Given the description of an element on the screen output the (x, y) to click on. 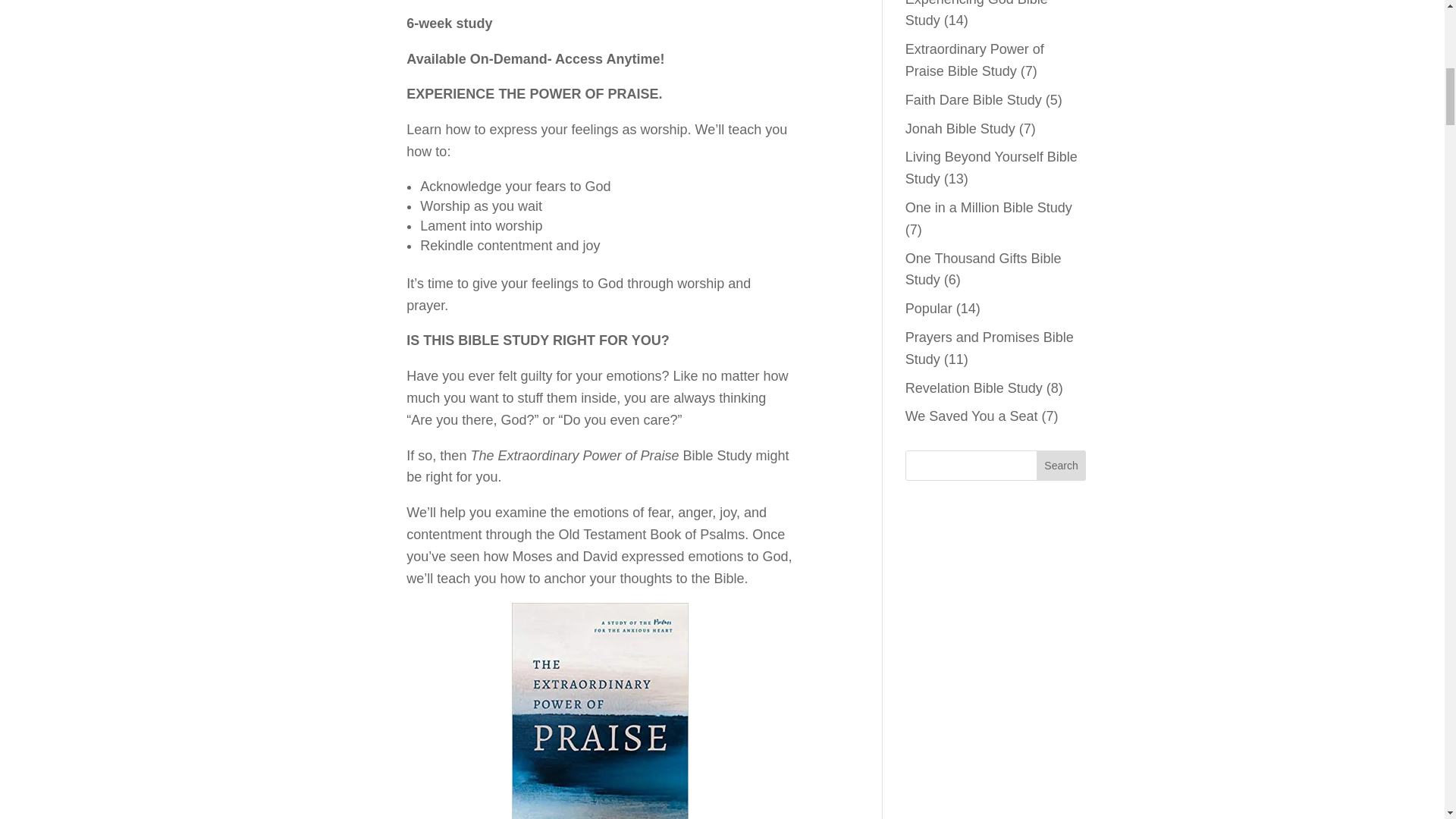
Experiencing God Bible Study (976, 14)
Search (1061, 465)
